Given the description of an element on the screen output the (x, y) to click on. 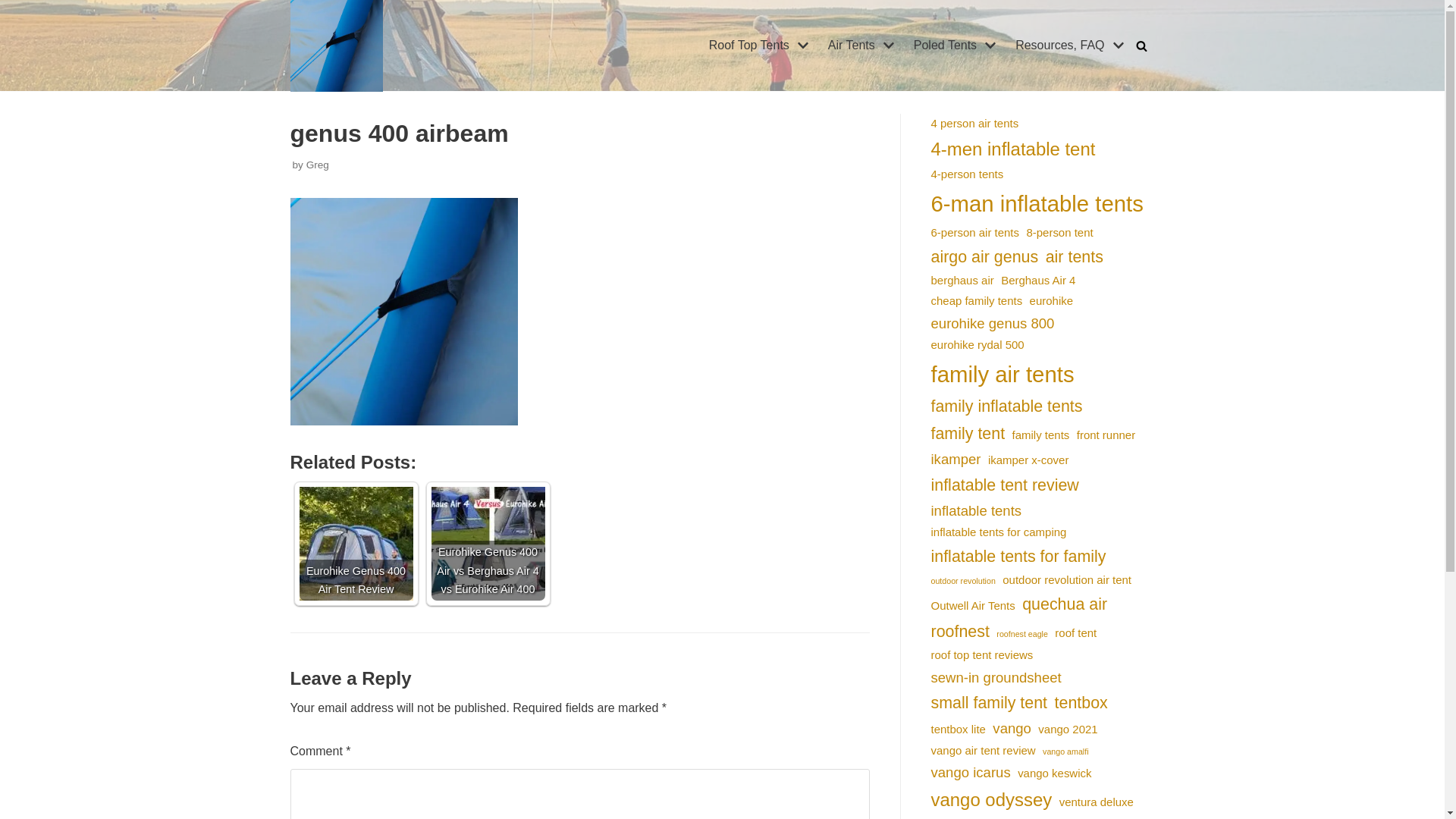
airgo air genus Element type: text (984, 256)
vango Element type: text (1011, 728)
outdoor revolution air tent Element type: text (1066, 579)
Berghaus Air 4 Element type: text (1038, 279)
family inflatable tents Element type: text (1006, 406)
inflatable tents Element type: text (976, 510)
vango 2021 Element type: text (1067, 728)
inflatable tents for family Element type: text (1018, 556)
8-person tent Element type: text (1059, 231)
Eurohike Genus 400 Air Tent Review Element type: text (355, 543)
vango odyssey Element type: text (991, 799)
Outwell Air Tents Element type: text (973, 605)
Resources, FAQ Element type: text (1071, 45)
Eurohike Genus 400 Air Tent Review Element type: hover (355, 543)
Air Tents Element type: text (863, 45)
inflatable tent review Element type: text (1005, 484)
cheap family tents Element type: text (976, 300)
4-men inflatable tent Element type: text (1013, 149)
eurohike Element type: text (1051, 300)
roofnest Element type: text (960, 631)
roof top tent reviews Element type: text (982, 654)
tentbox lite Element type: text (958, 728)
front runner Element type: text (1105, 434)
Skip to content Element type: text (15, 7)
vango amalfi Element type: text (1065, 752)
ikamper Element type: text (956, 458)
family tents Element type: text (1041, 434)
family air tents Element type: text (1002, 373)
ventura deluxe Element type: text (1096, 801)
small family tent Element type: text (989, 702)
family tent Element type: text (968, 433)
4 person air tents Element type: text (975, 122)
tentbox Element type: text (1080, 702)
air tents Element type: text (1074, 256)
outdoor revolution Element type: text (963, 581)
quechua air Element type: text (1064, 604)
roof tent Element type: text (1075, 632)
vango icarus Element type: text (970, 772)
vango keswick Element type: text (1054, 772)
6-man inflatable tents Element type: text (1037, 203)
4-person tents Element type: text (967, 173)
vango air tent review Element type: text (983, 749)
eurohike genus 800 Element type: text (992, 322)
inflatable tents for camping Element type: text (998, 531)
Greg Element type: text (317, 164)
berghaus air Element type: text (962, 279)
ikamper x-cover Element type: text (1028, 459)
Eurohike Genus 400 Air vs Berghaus Air 4 vs Eurohike Air 400 Element type: hover (487, 543)
Roof Top Tents Element type: text (760, 45)
roofnest eagle Element type: text (1022, 634)
Eurohike Genus 400 Air vs Berghaus Air 4 vs Eurohike Air 400 Element type: text (487, 543)
Poled Tents Element type: text (956, 45)
eurohike rydal 500 Element type: text (977, 344)
6-person air tents Element type: text (975, 231)
sewn-in groundsheet Element type: text (996, 677)
